Given the description of an element on the screen output the (x, y) to click on. 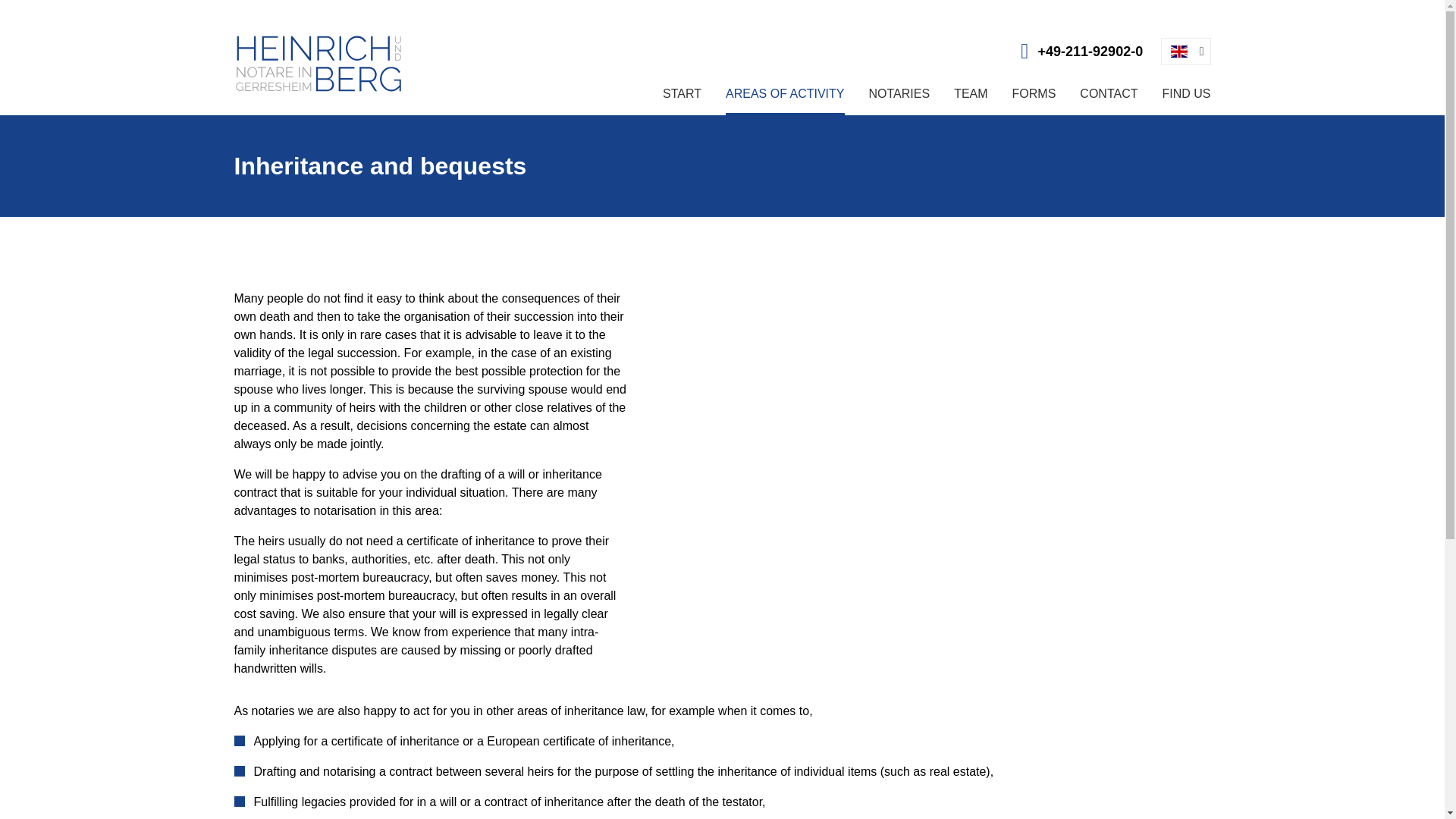
AREAS OF ACTIVITY (784, 93)
CONTACT (1108, 93)
NOTARIES (899, 93)
Dr. Udo Heinrich und Dr. Jan Henning Berg (317, 63)
Find us (1185, 93)
Contact (1108, 93)
Forms (1034, 93)
Areas of activity (784, 93)
START (681, 93)
FIND US (1185, 93)
